Given the description of an element on the screen output the (x, y) to click on. 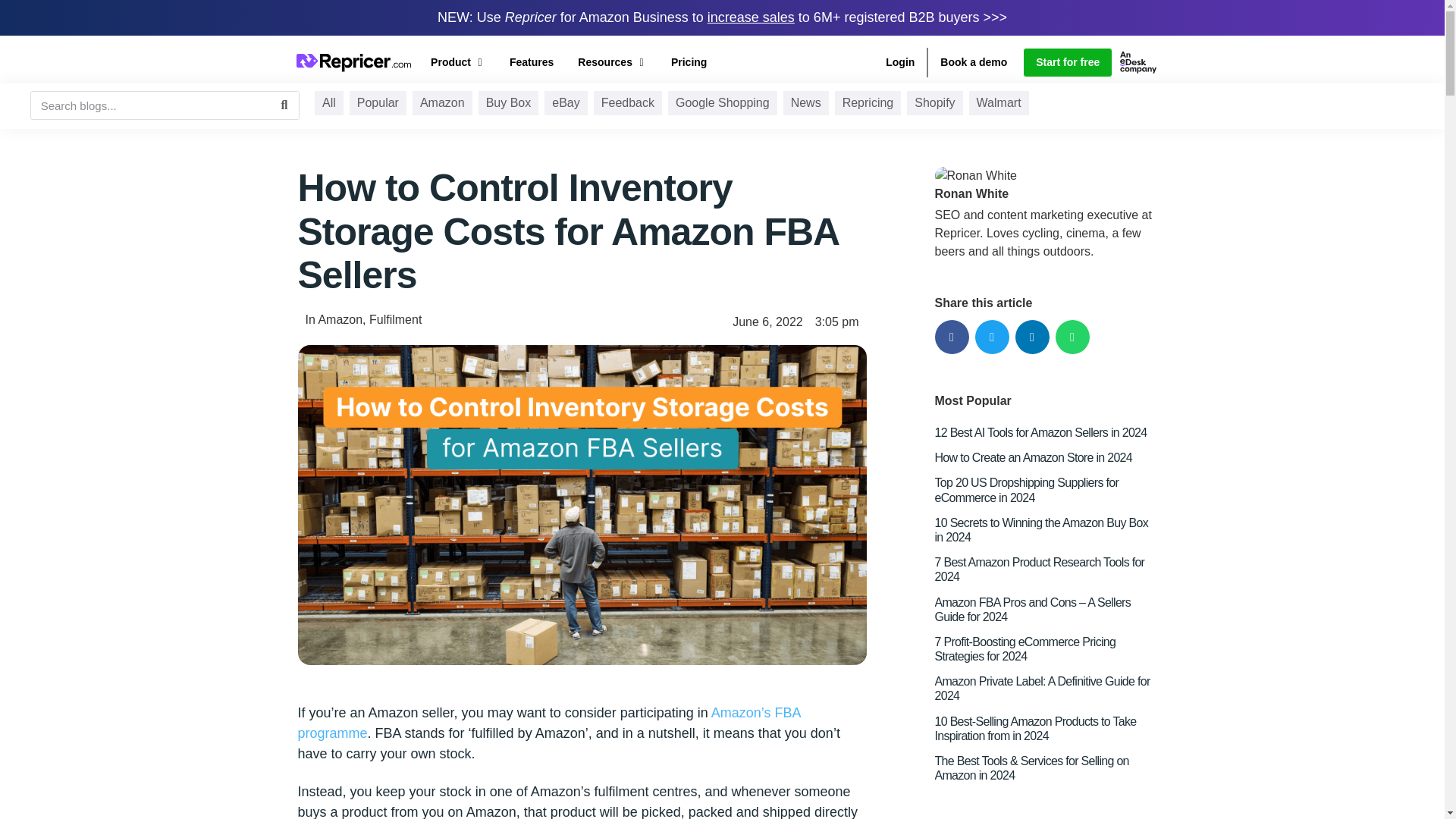
Pricing (688, 62)
Features (531, 62)
Login (899, 62)
